Given the description of an element on the screen output the (x, y) to click on. 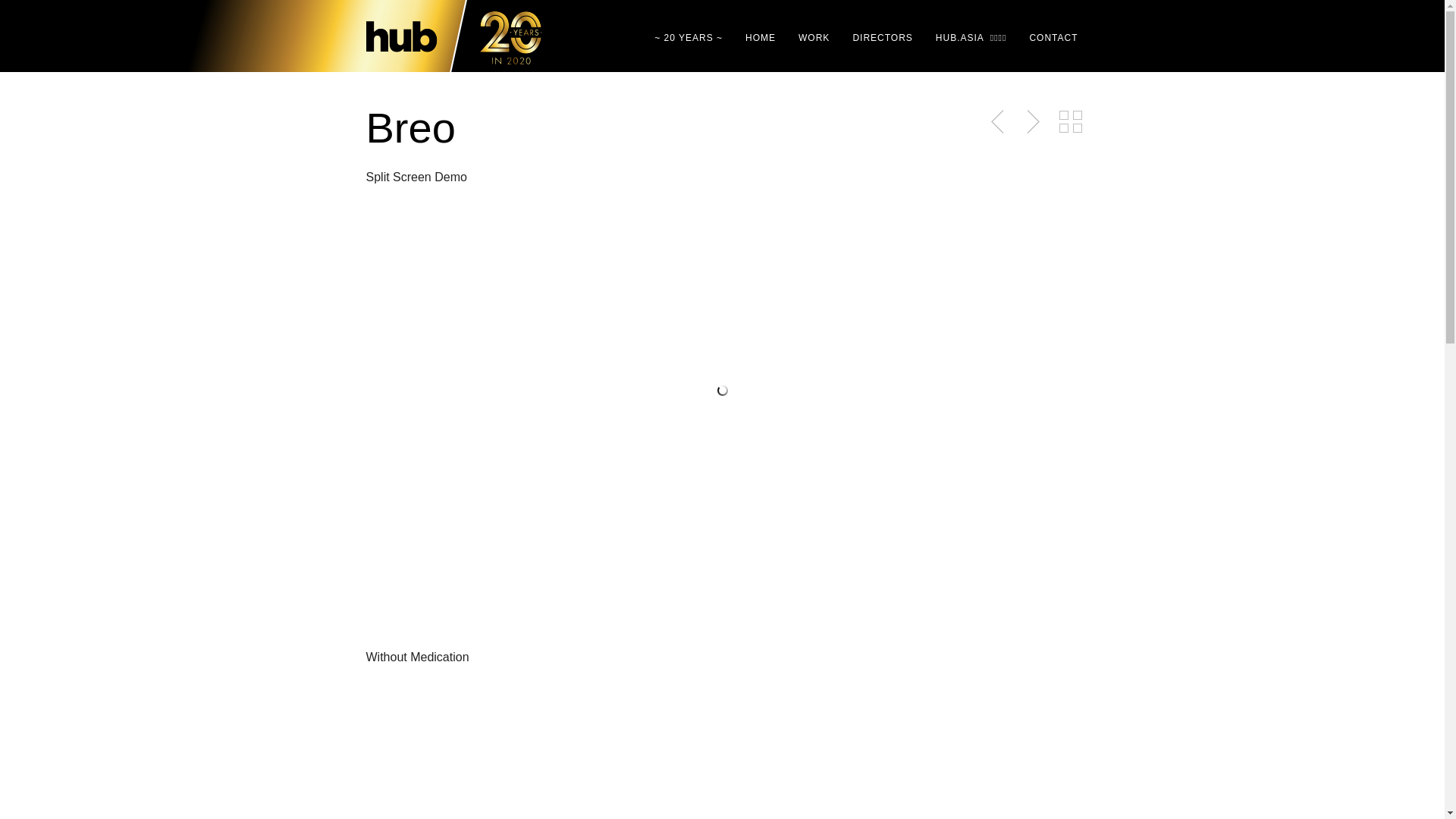
Previous Post Element type: text (998, 122)
~ 20 YEARS ~ Element type: text (682, 37)
WORK Element type: text (808, 37)
Back to Portfolio Element type: text (1069, 122)
BREO - Split Screen Demo Element type: hover (721, 389)
CONTACT Element type: text (1047, 37)
Next Post Element type: text (1030, 122)
HOME Element type: text (754, 37)
DIRECTORS Element type: text (876, 37)
